Given the description of an element on the screen output the (x, y) to click on. 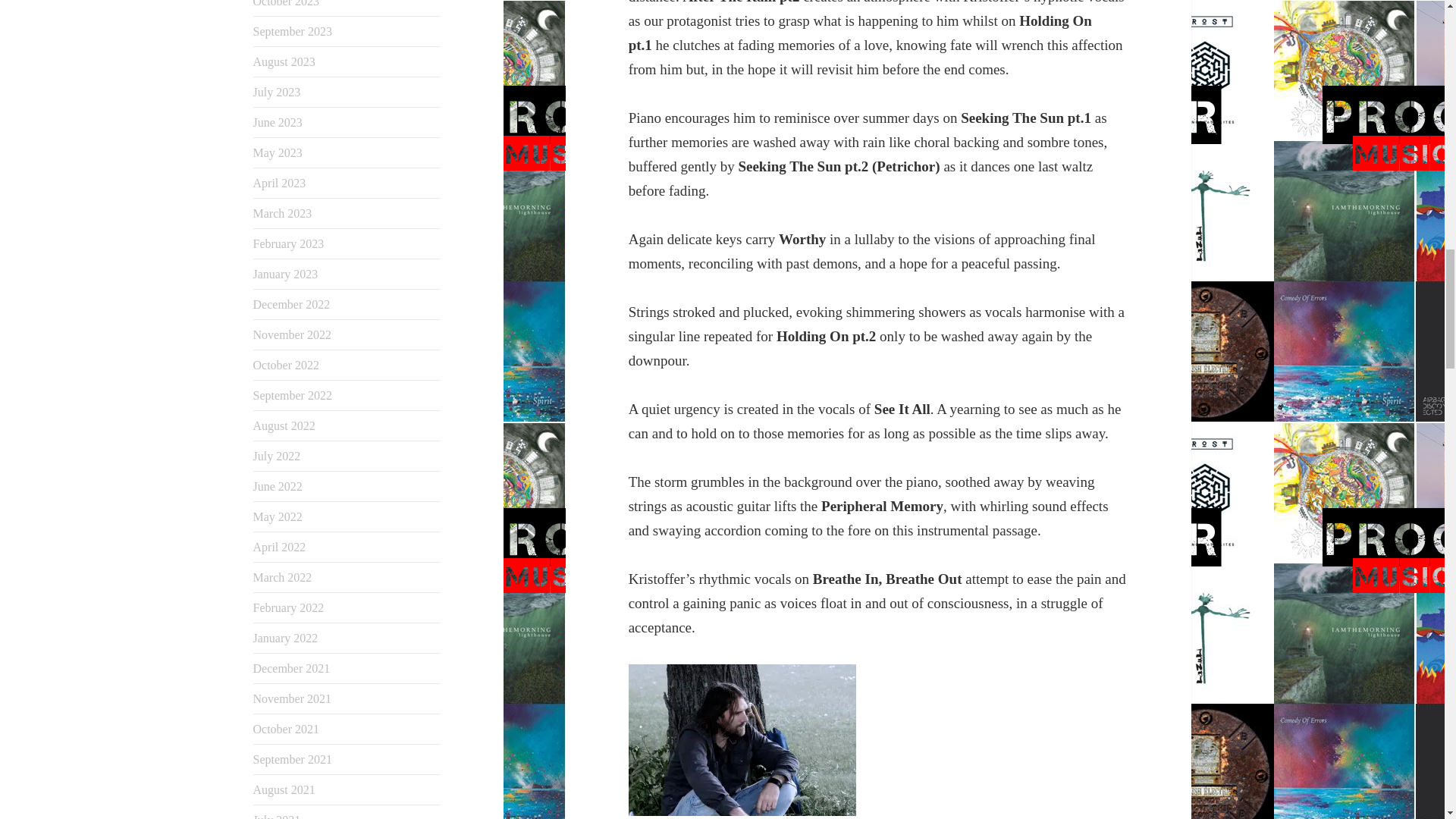
August 2023 (284, 61)
May 2023 (277, 152)
February 2023 (288, 243)
July 2023 (277, 91)
September 2022 (292, 395)
November 2022 (292, 334)
October 2023 (286, 3)
September 2023 (292, 31)
June 2023 (277, 122)
December 2022 (291, 304)
January 2023 (285, 273)
April 2023 (279, 182)
October 2022 (286, 364)
March 2023 (283, 213)
